Given the description of an element on the screen output the (x, y) to click on. 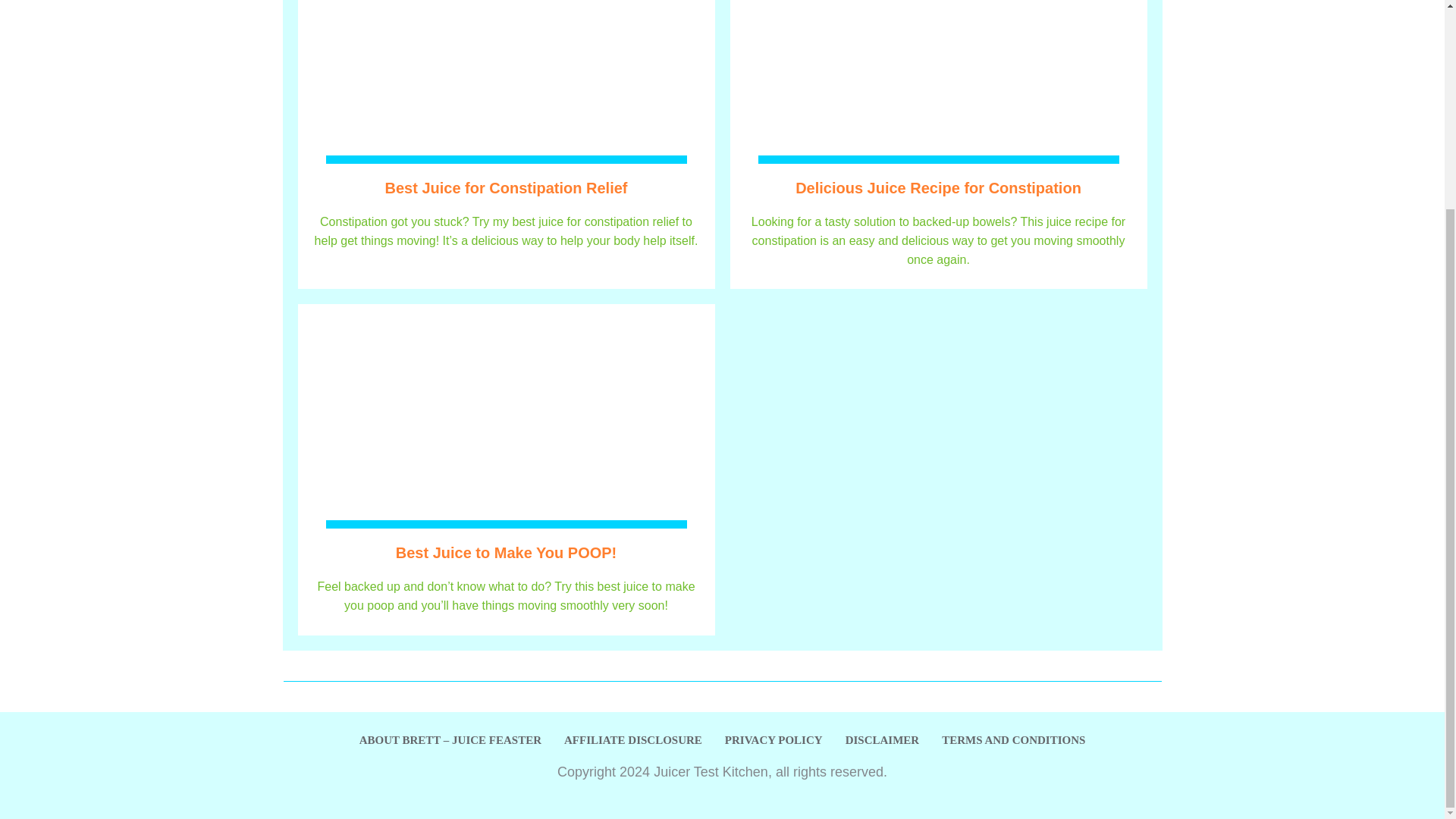
Best Juice for Constipation Relief (505, 187)
AFFILIATE DISCLOSURE (632, 739)
PRIVACY POLICY (773, 739)
Best Juice for Constipation Relief (505, 187)
Delicious Juice Recipe for Constipation (937, 187)
Best Juice to Make You POOP! (506, 552)
TERMS AND CONDITIONS (1013, 739)
Delicious Juice Recipe for Constipation (937, 187)
Best Juice to Make You POOP! (506, 552)
DISCLAIMER (882, 739)
